Given the description of an element on the screen output the (x, y) to click on. 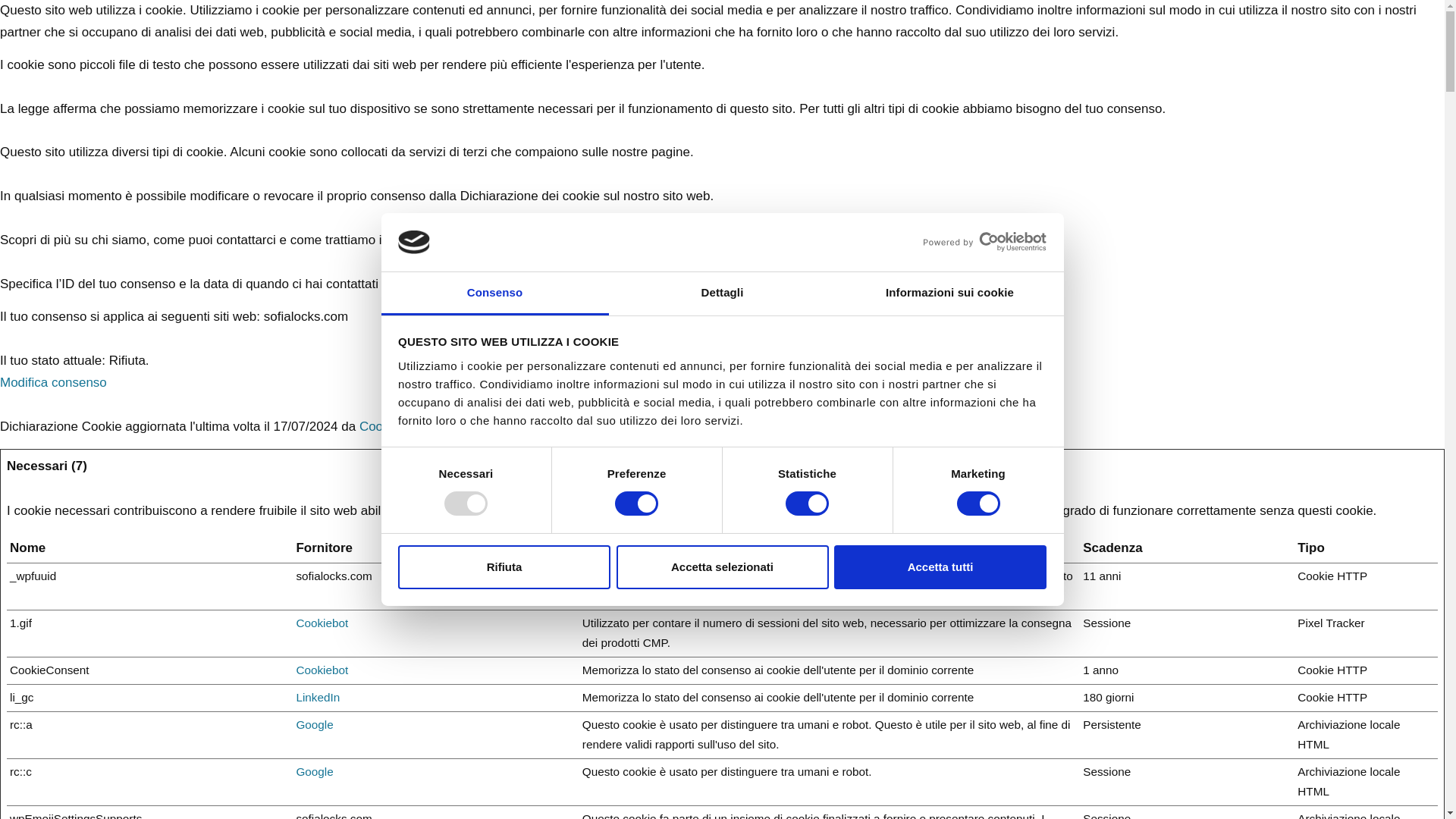
Cookiebot (321, 669)
Cookiebot (388, 426)
l'informativa sulla privacy di Google (314, 724)
Google (314, 771)
LinkedIn (317, 697)
l'informativa sulla privacy di Cookiebot (321, 622)
Modifica consenso (53, 382)
l'informativa sulla privacy di Cookiebot (321, 669)
l'informativa sulla privacy di Google (314, 771)
Cookiebot (321, 622)
